Given the description of an element on the screen output the (x, y) to click on. 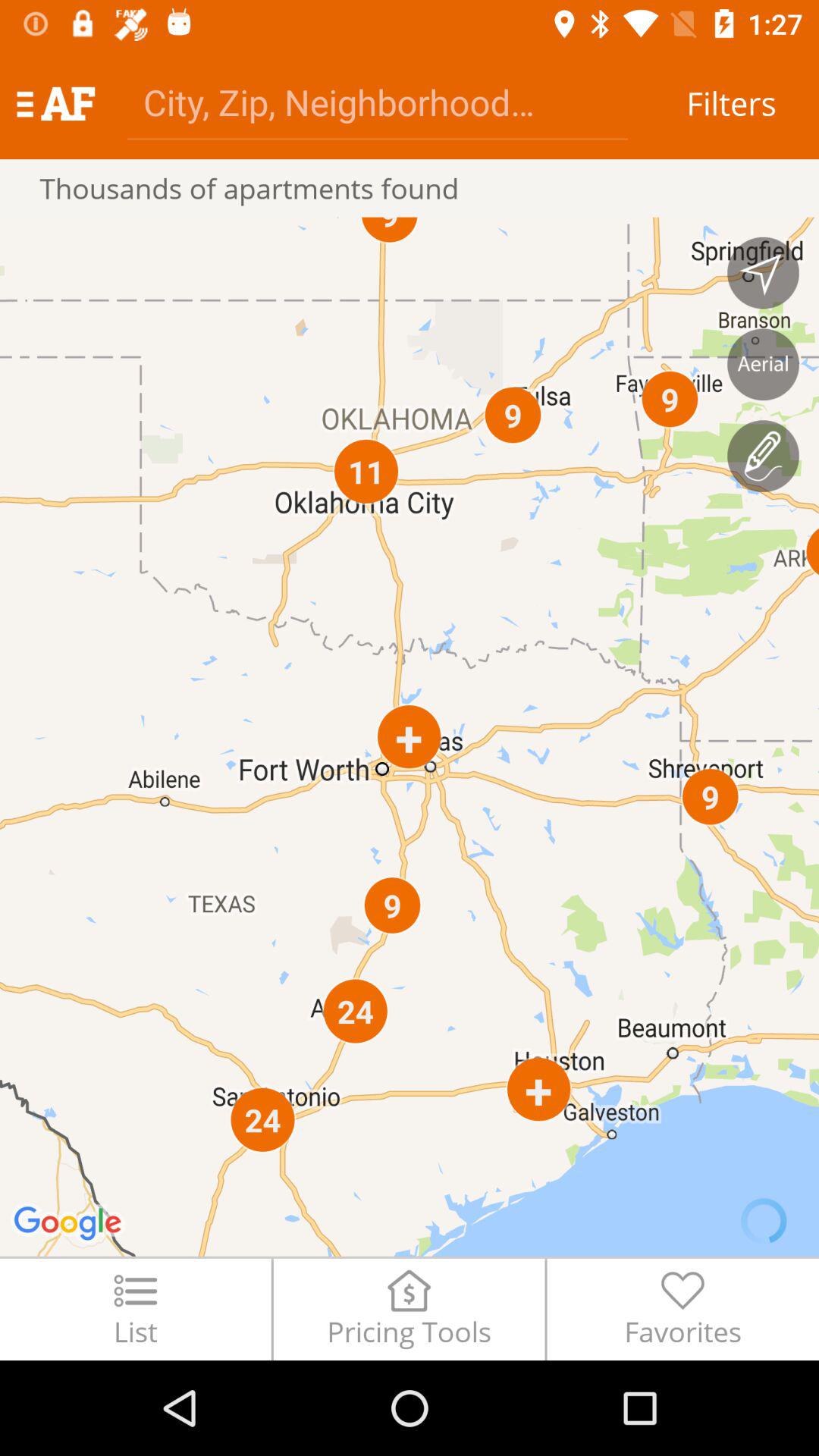
select the item to the right of the list (408, 1309)
